Given the description of an element on the screen output the (x, y) to click on. 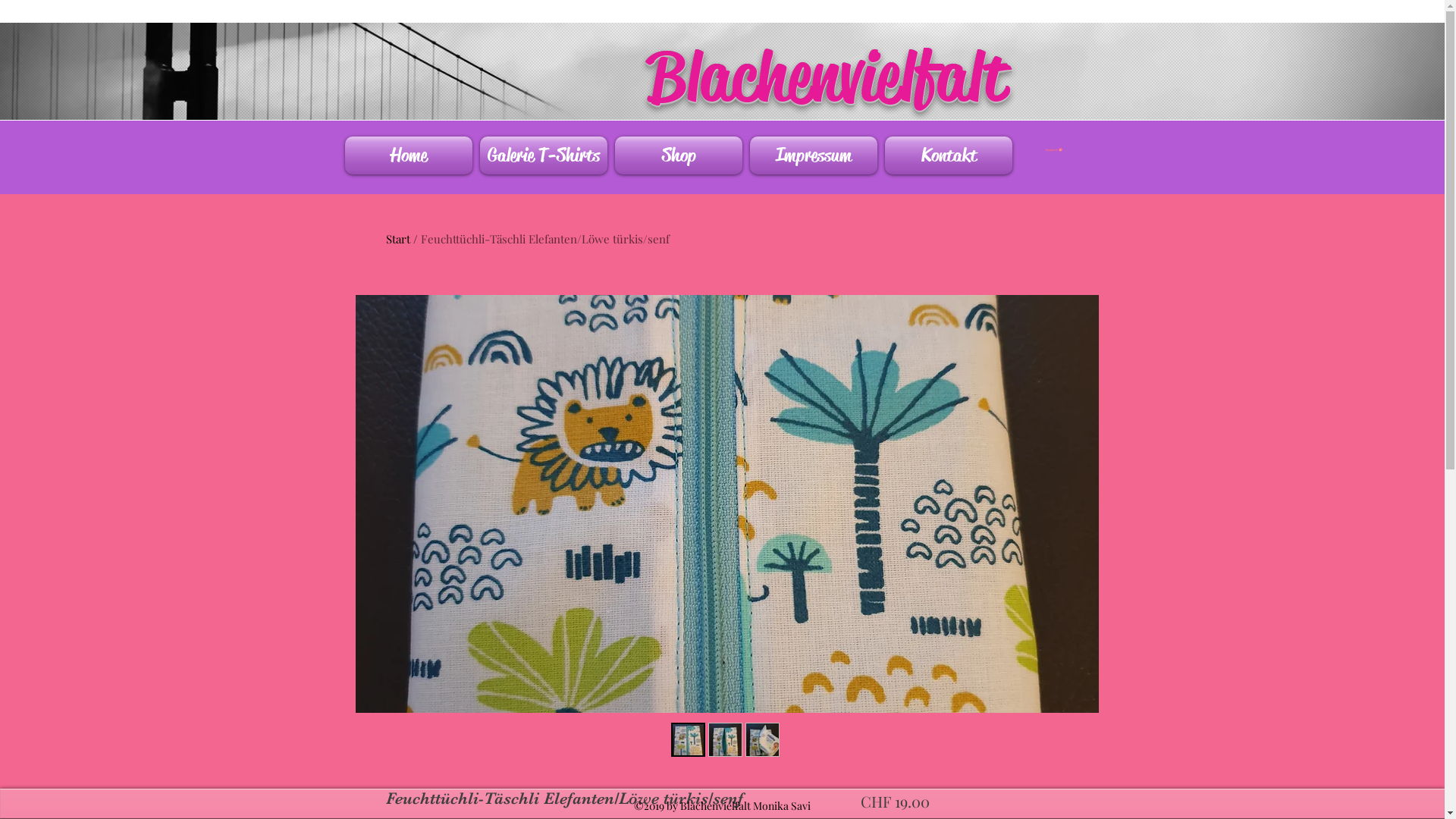
0
Warenkorb Element type: text (1052, 149)
Kontakt Element type: text (948, 155)
Impressum Element type: text (813, 155)
Shop Element type: text (678, 155)
Home Element type: text (408, 155)
Galerie T-Shirts Element type: text (543, 155)
Start Element type: text (397, 238)
